Given the description of an element on the screen output the (x, y) to click on. 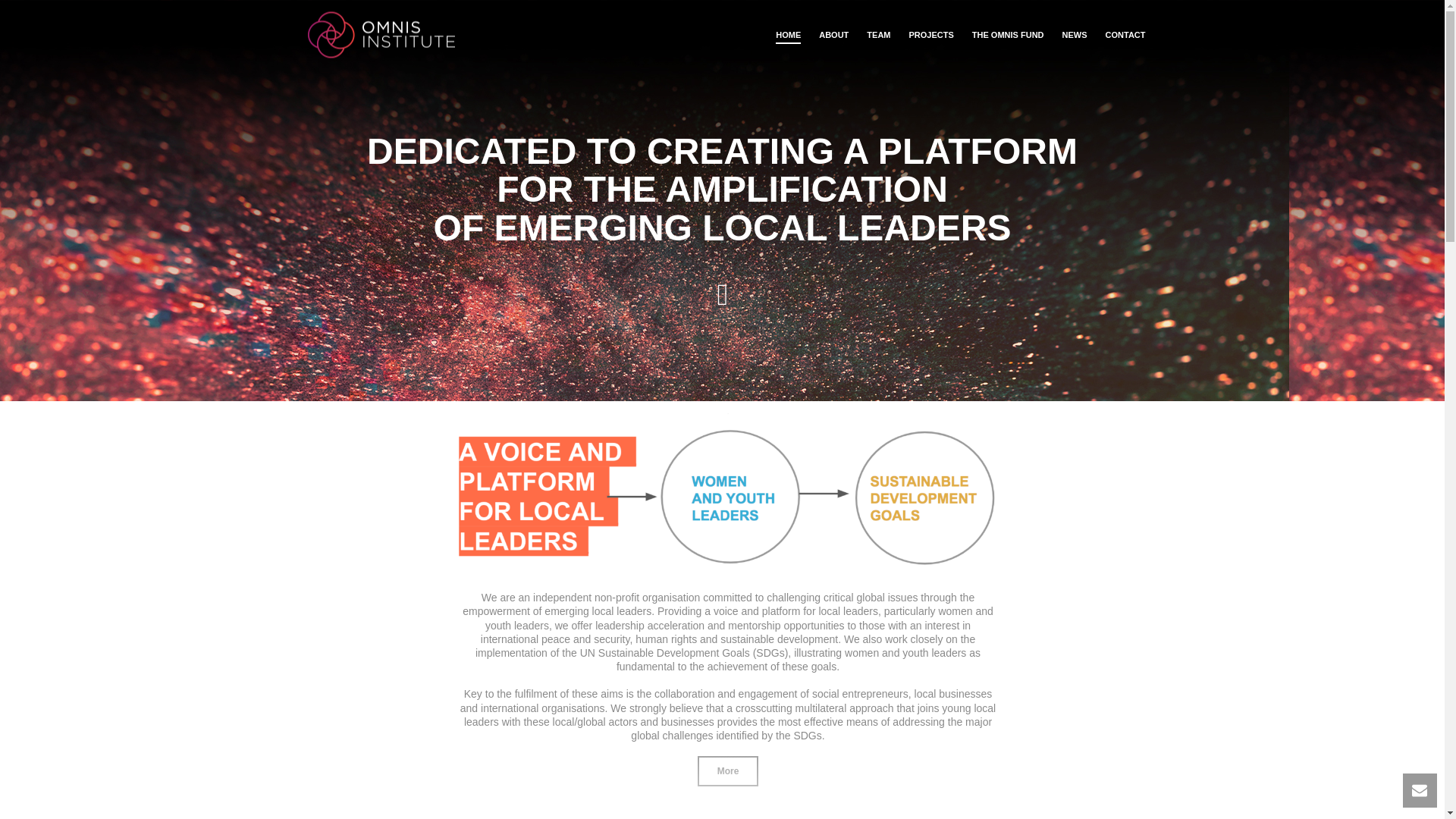
More (727, 770)
HOME (788, 34)
ABOUT (833, 34)
ABOUT (833, 34)
NEWS (1074, 34)
NEWS (1074, 34)
CONTACT (1125, 34)
screen-shot-2017-11-22-at-17.34.09 (727, 498)
THE OMNIS FUND (1007, 34)
HOME (788, 34)
TEAM (878, 34)
CONTACT (1125, 34)
TEAM (878, 34)
PROJECTS (930, 34)
THE OMNIS FUND (1007, 34)
